Given the description of an element on the screen output the (x, y) to click on. 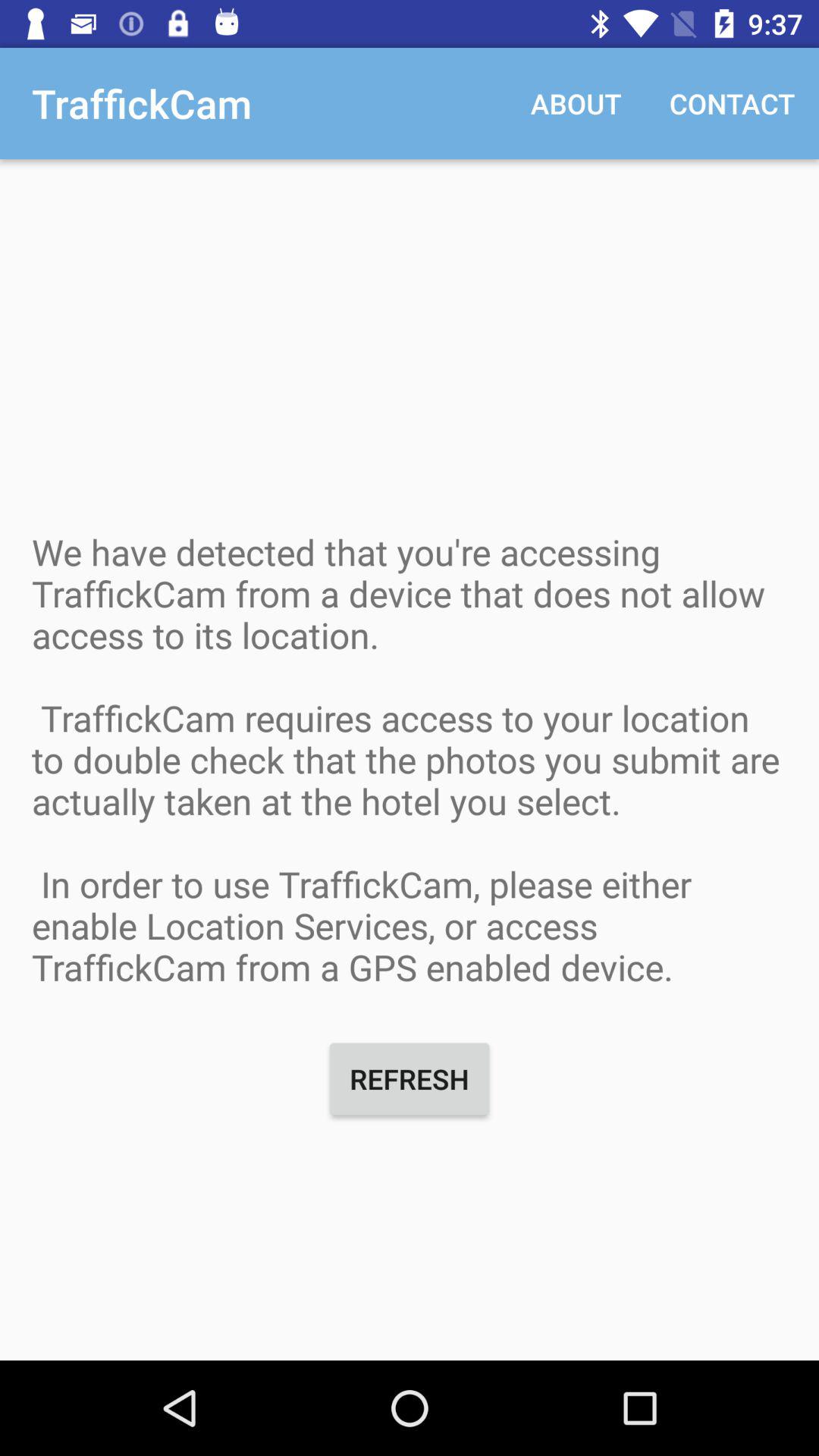
click the item to the right of traffickcam (575, 103)
